Given the description of an element on the screen output the (x, y) to click on. 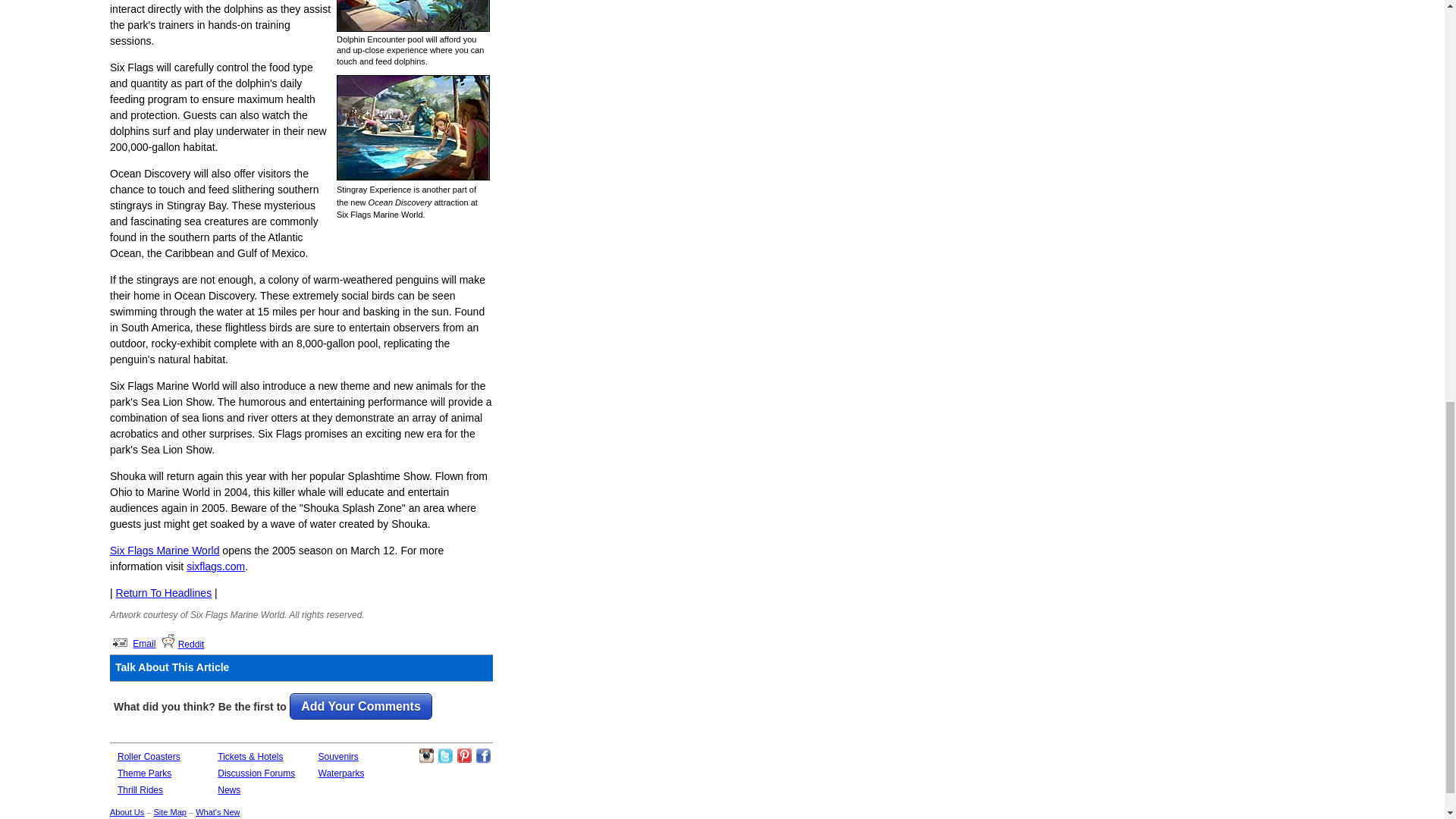
Discussion Forums (255, 773)
Souvenirs (338, 756)
About Us (127, 811)
Thrill Rides (140, 789)
Theme Parks Pinterest (464, 755)
Waterparks (341, 773)
Like Ultimate Rollercoaster Facebook (483, 755)
Like Ultimate Rollercoaster Instagram (426, 755)
Reddit (191, 644)
sixflags.com (215, 566)
Terms Of Service (435, 818)
What's New (217, 811)
Follow Roller Coasters on Twitter (445, 755)
Add Your Comments (360, 706)
Theme Parks (144, 773)
